Given the description of an element on the screen output the (x, y) to click on. 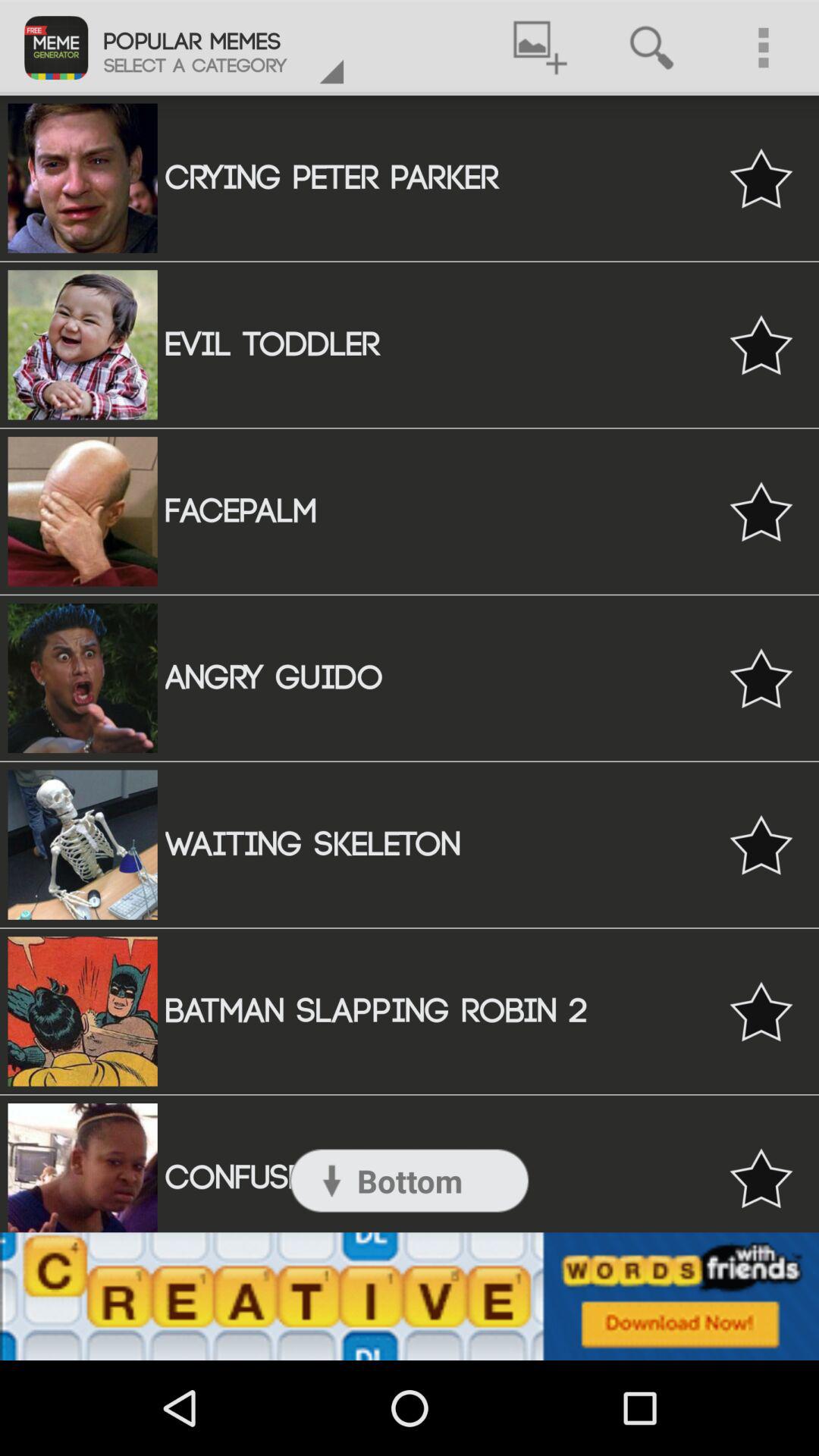
favorites (761, 678)
